Given the description of an element on the screen output the (x, y) to click on. 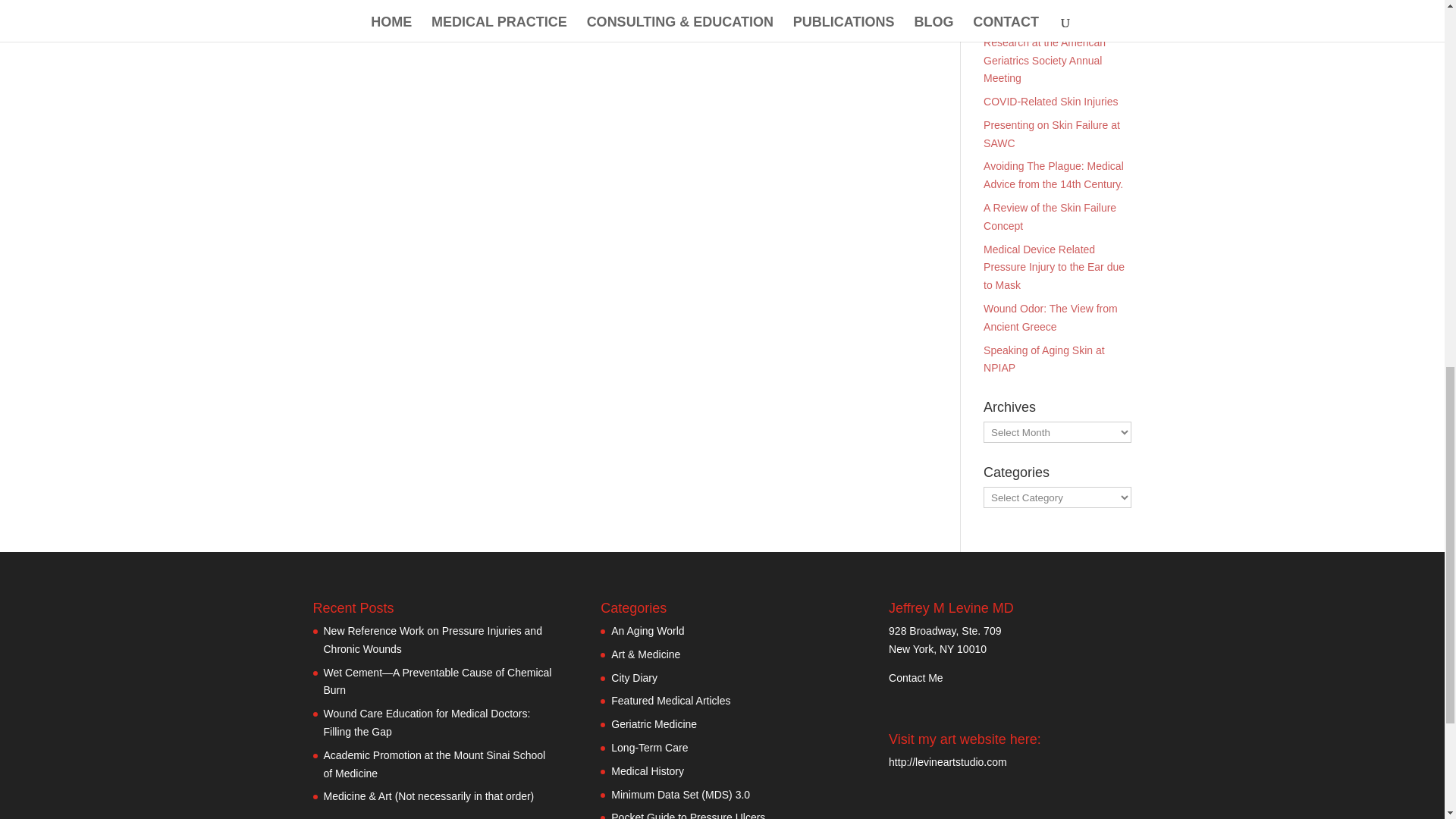
Academic Promotion at the Mount Sinai School of Medicine (433, 764)
Wound Odor: The View from Ancient Greece (1051, 317)
Avoiding The Plague: Medical Advice from the 14th Century. (1054, 174)
Long-Term Care (649, 747)
An Aging World (647, 630)
Featured Medical Articles (670, 700)
Presenting on Skin Failure at SAWC (1051, 133)
New Reference Work on Pressure Injuries and Chronic Wounds (432, 639)
